Given the description of an element on the screen output the (x, y) to click on. 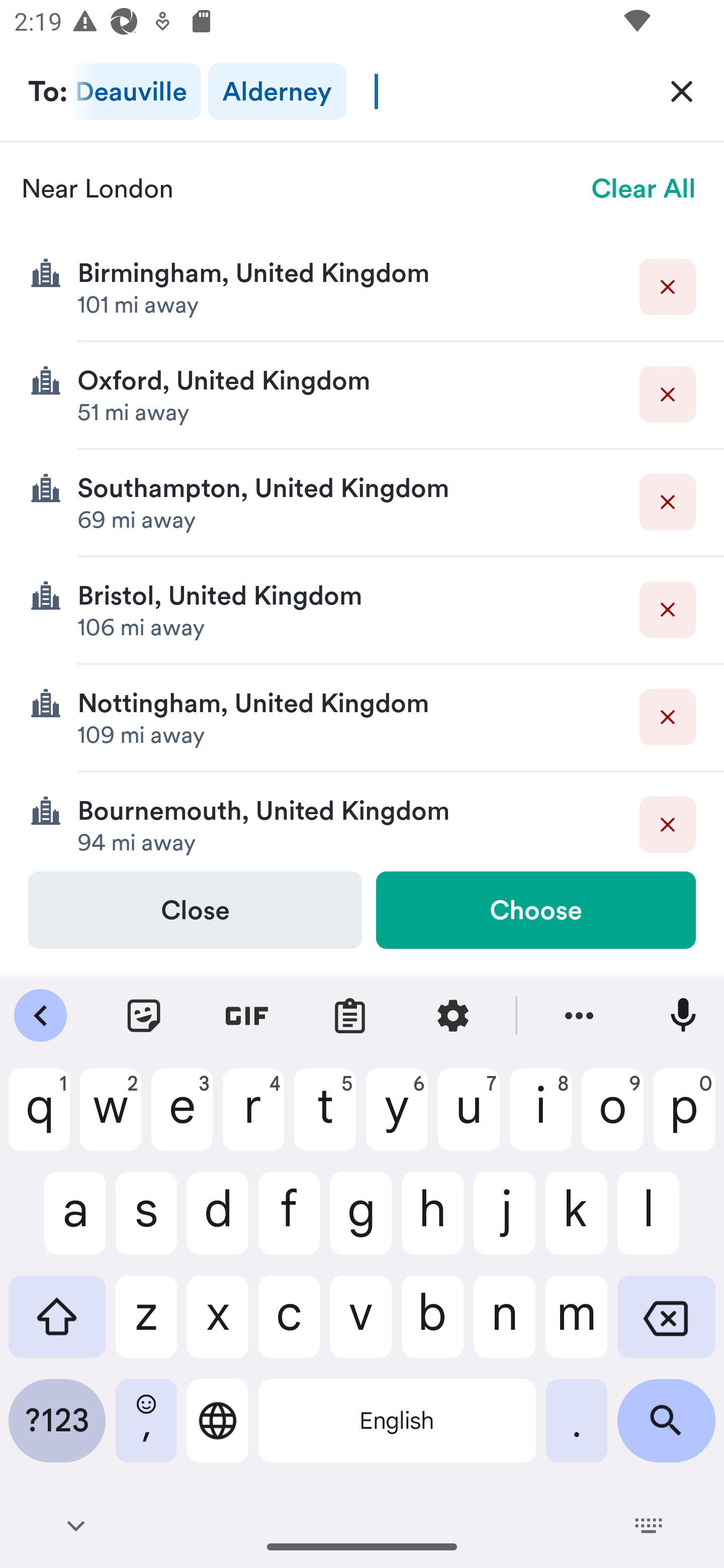
Clear All (681, 90)
Deauville (134, 91)
Alderney (277, 91)
Clear All (643, 187)
Delete Birmingham, United Kingdom 101 mi away (362, 287)
Delete (667, 286)
Delete Oxford, United Kingdom 51 mi away (362, 395)
Delete (667, 394)
Delete Southampton, United Kingdom 69 mi away (362, 503)
Delete (667, 501)
Delete Bristol, United Kingdom 106 mi away (362, 610)
Delete (667, 609)
Delete Nottingham, United Kingdom 109 mi away (362, 717)
Delete (667, 716)
Delete Bournemouth, United Kingdom 94 mi away (362, 821)
Delete (667, 824)
Close (195, 909)
Choose (535, 909)
